Given the description of an element on the screen output the (x, y) to click on. 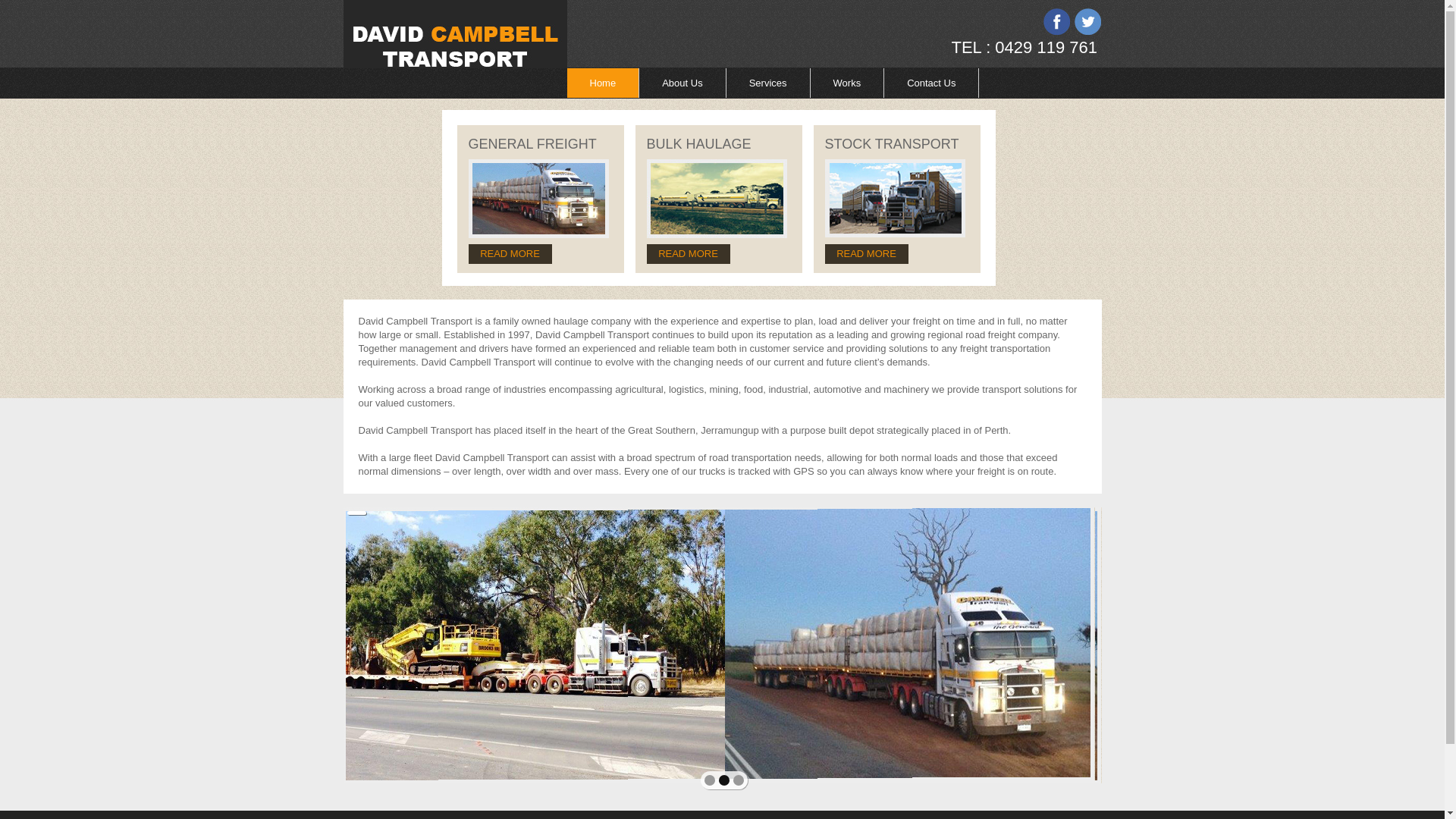
About Us Element type: text (682, 82)
Home Element type: text (603, 82)
prev Element type: text (387, 650)
STOCK TRANSPORT Element type: text (892, 143)
Contact Us Element type: text (931, 82)
READ MORE Element type: text (866, 253)
GENERAL FREIGHT Element type: text (532, 143)
Services Element type: text (768, 82)
READ MORE Element type: text (510, 253)
READ MORE Element type: text (687, 253)
next Element type: text (1056, 650)
BULK HAULAGE Element type: text (698, 143)
Works Element type: text (847, 82)
